Given the description of an element on the screen output the (x, y) to click on. 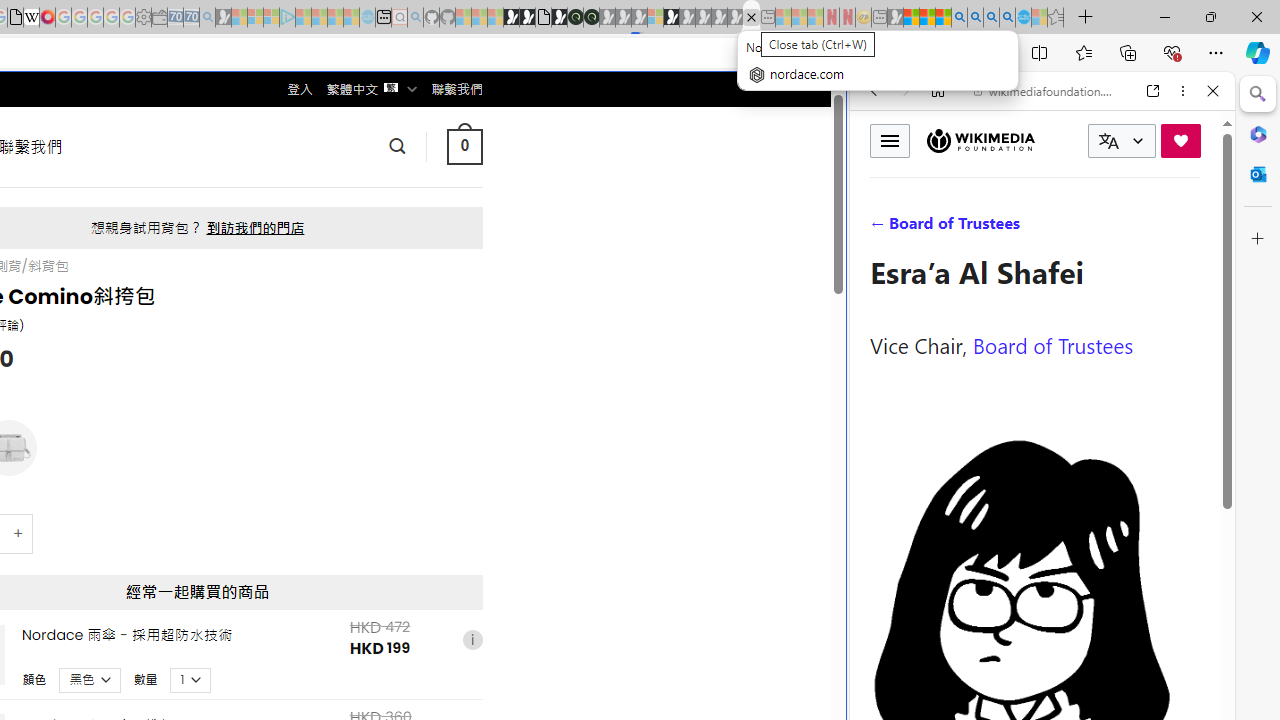
Microsoft Start Gaming - Sleeping (223, 17)
Microsoft account | Privacy - Sleeping (271, 17)
Search Filter, VIDEOS (1006, 228)
Restore (1210, 16)
Web scope (882, 180)
Preferences (1189, 228)
Class: b_serphb (1190, 229)
Services - Maintenance | Sky Blue Bikes - Sky Blue Bikes (1023, 17)
Close Outlook pane (1258, 174)
CURRENT LANGUAGE: (1121, 141)
2009 Bing officially replaced Live Search on June 3 - Search (975, 17)
